Given the description of an element on the screen output the (x, y) to click on. 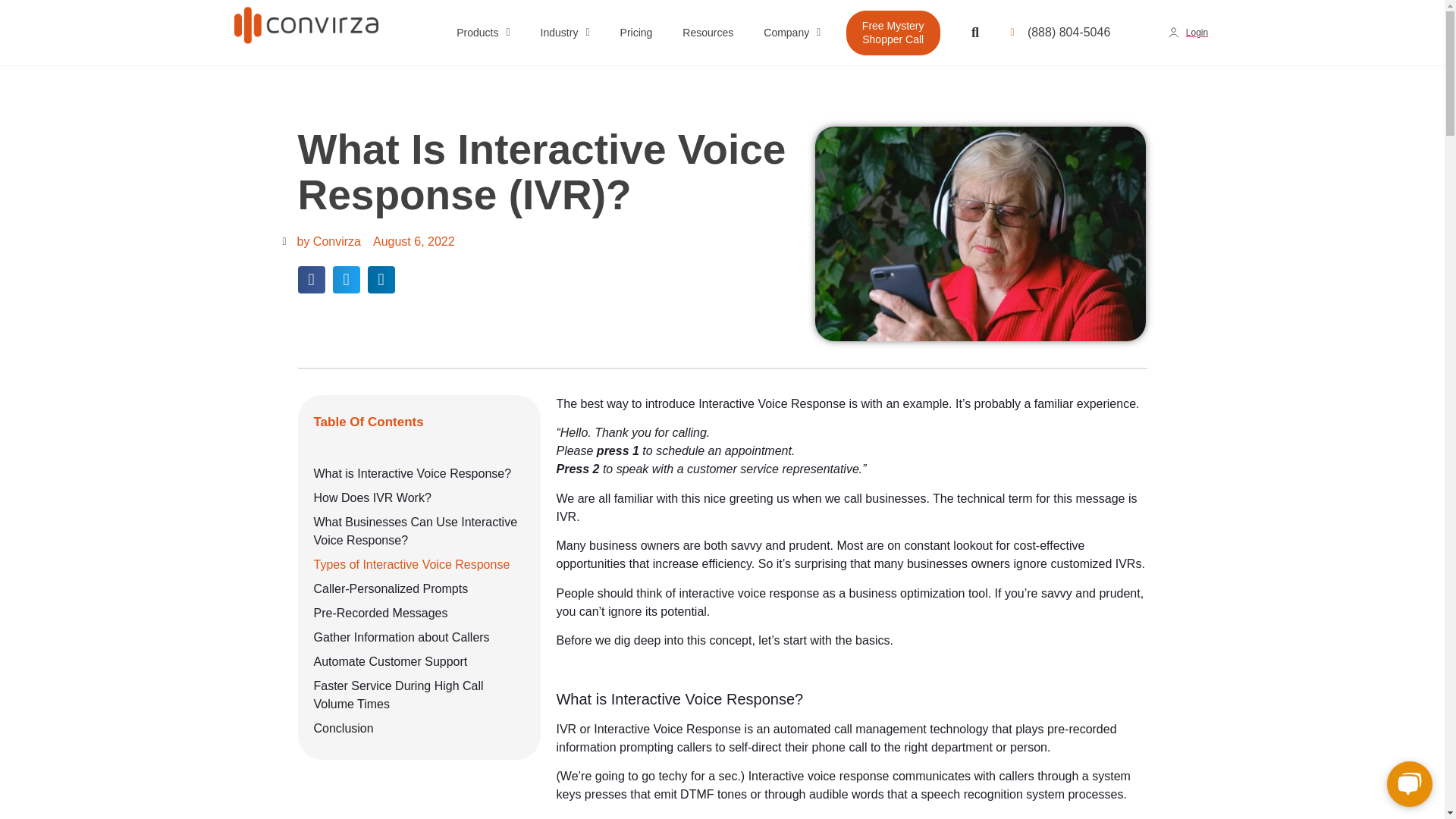
Industry (565, 32)
Resources (707, 32)
Company (791, 32)
Products (482, 32)
Pricing (636, 32)
